Given the description of an element on the screen output the (x, y) to click on. 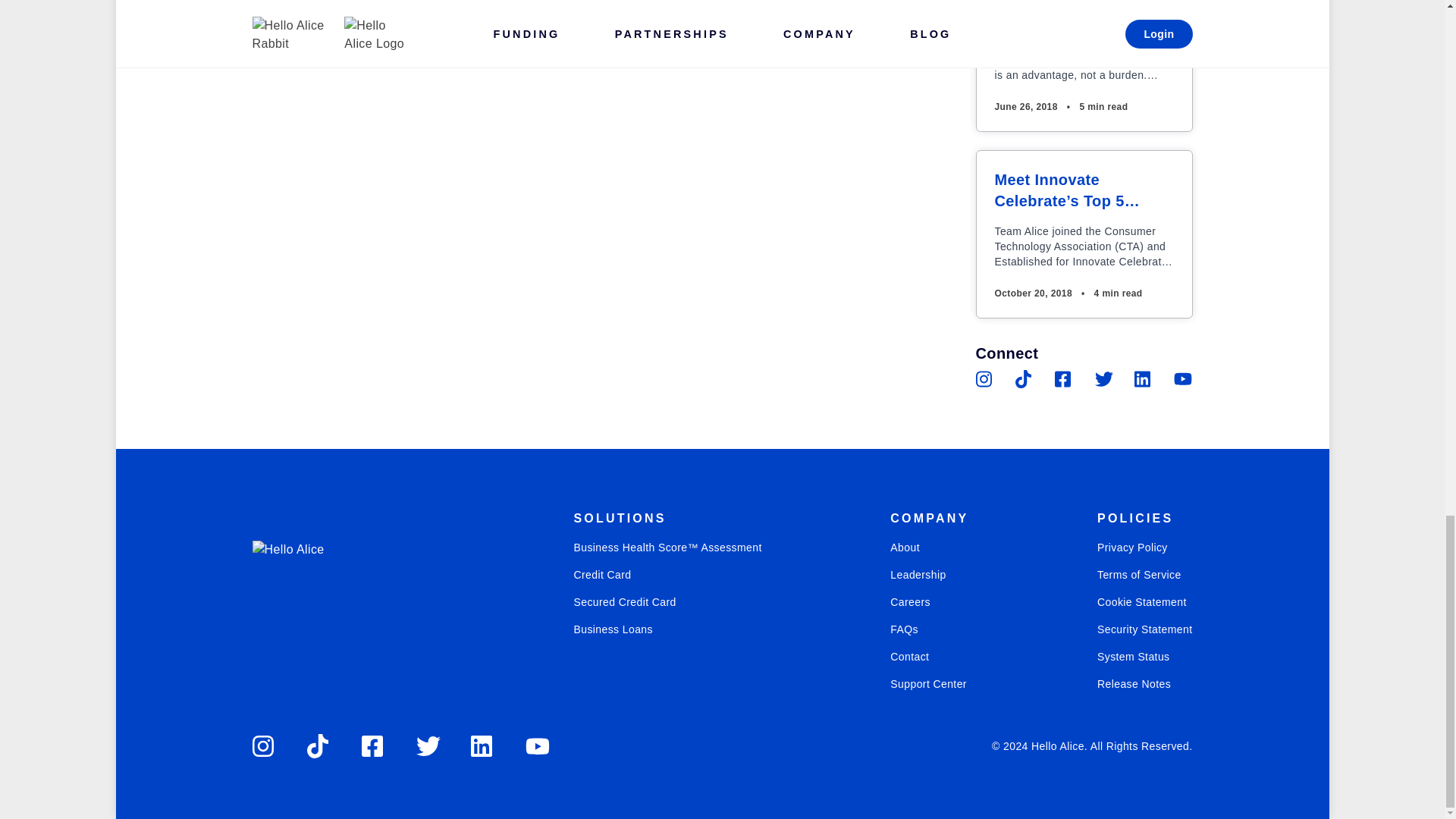
Like and Subscribe to the Hello Alice YouTube channel (1182, 379)
Follow Hello Alice on TikTok (1023, 379)
Follow Hello Alice on Instagram (263, 745)
Follow Hello Alice on Facebook (1063, 379)
Follow Hello Alice on Instagram (983, 379)
Follow Hello Alice on Twitter (1103, 379)
Return to Hello Alice homepage (319, 593)
Follow Hello Alice on LinkedIn (1143, 379)
Follow Hello Alice on TikTok (317, 745)
